Given the description of an element on the screen output the (x, y) to click on. 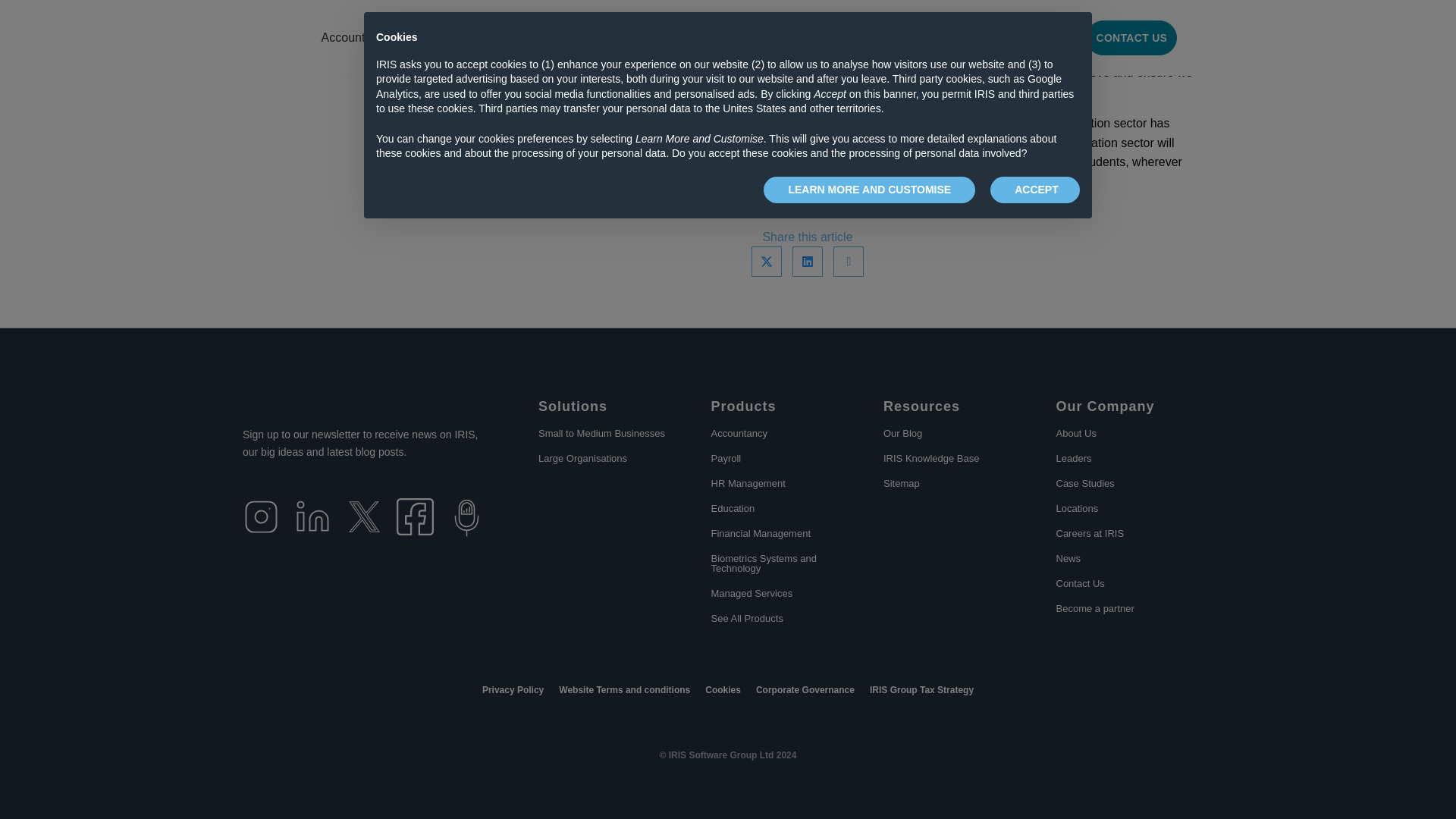
Follow IRIS Podcasts IRIS Software Group Podcasts (466, 518)
